Given the description of an element on the screen output the (x, y) to click on. 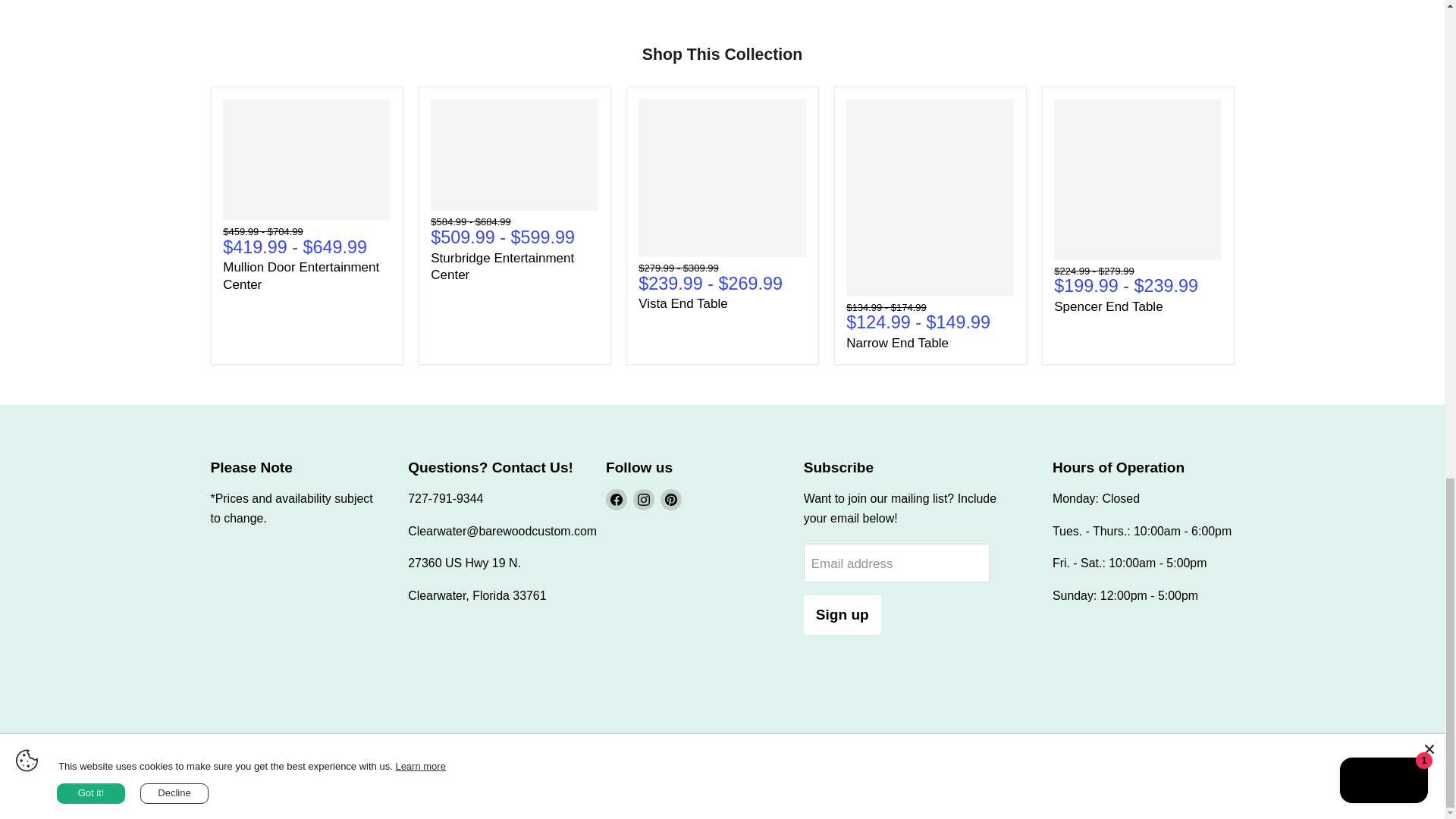
Facebook (616, 499)
Instagram (643, 499)
Pinterest (671, 499)
